Given the description of an element on the screen output the (x, y) to click on. 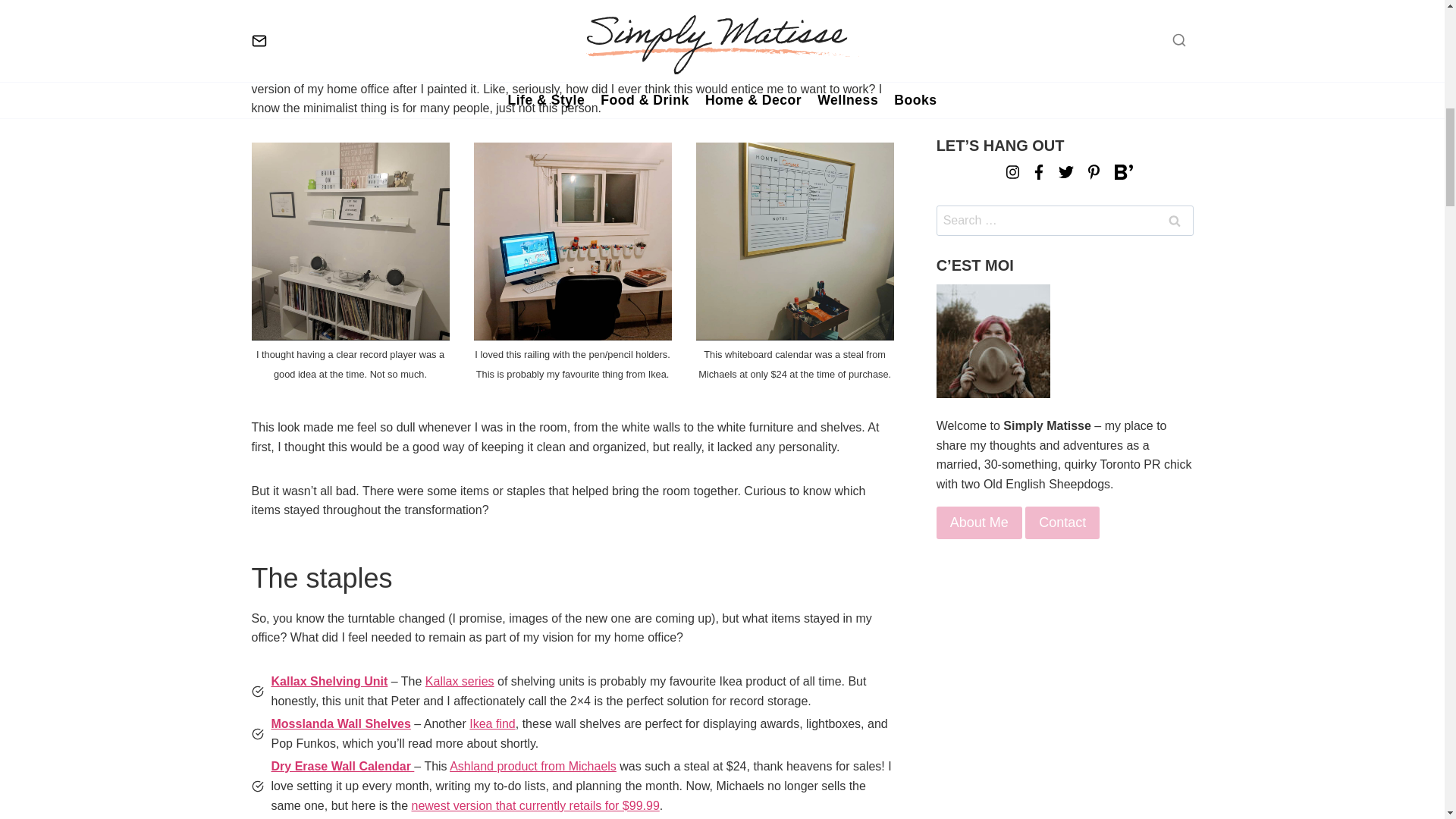
Ikea find (491, 723)
Ashland product from Michaels (532, 766)
Kallax Shelving Unit (329, 680)
Kallax series (460, 680)
Mosslanda Wall Shelves (340, 723)
Dry Erase Wall Calendar (342, 766)
